Given the description of an element on the screen output the (x, y) to click on. 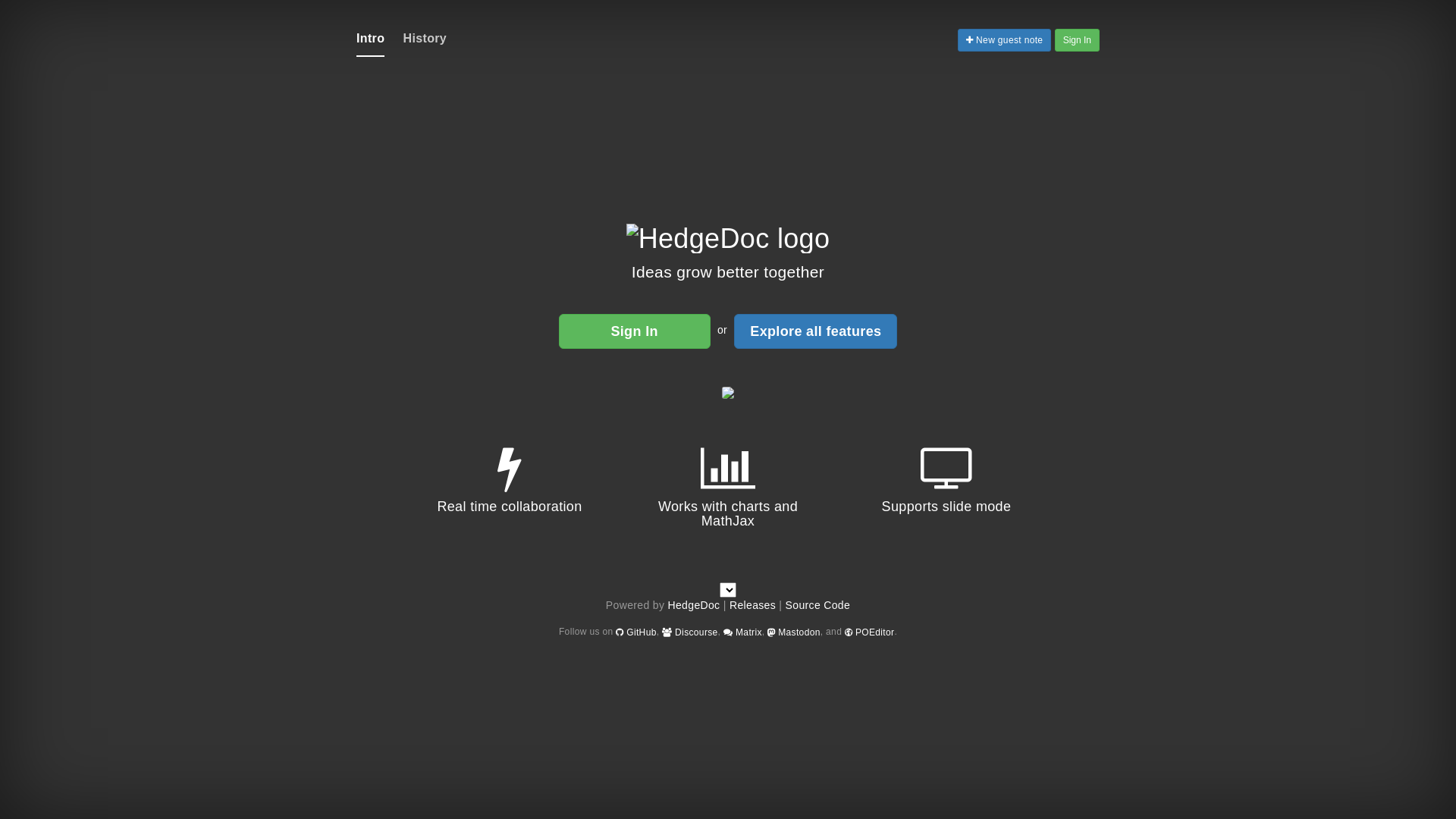
History Element type: text (425, 39)
Real time collaboration Element type: text (509, 492)
Works with charts and MathJax Element type: text (727, 500)
GitHub Element type: text (635, 632)
HedgeDoc Element type: text (694, 605)
Discourse Element type: text (690, 632)
POEditor Element type: text (869, 632)
Matrix Element type: text (742, 632)
Releases Element type: text (752, 605)
Sign In Element type: text (1076, 39)
Mastodon Element type: text (793, 632)
Intro Element type: text (370, 39)
New guest note Element type: text (1004, 39)
Source Code Element type: text (817, 605)
Sign In Element type: text (634, 330)
Supports slide mode Element type: text (946, 492)
Explore all features Element type: text (815, 330)
